Given the description of an element on the screen output the (x, y) to click on. 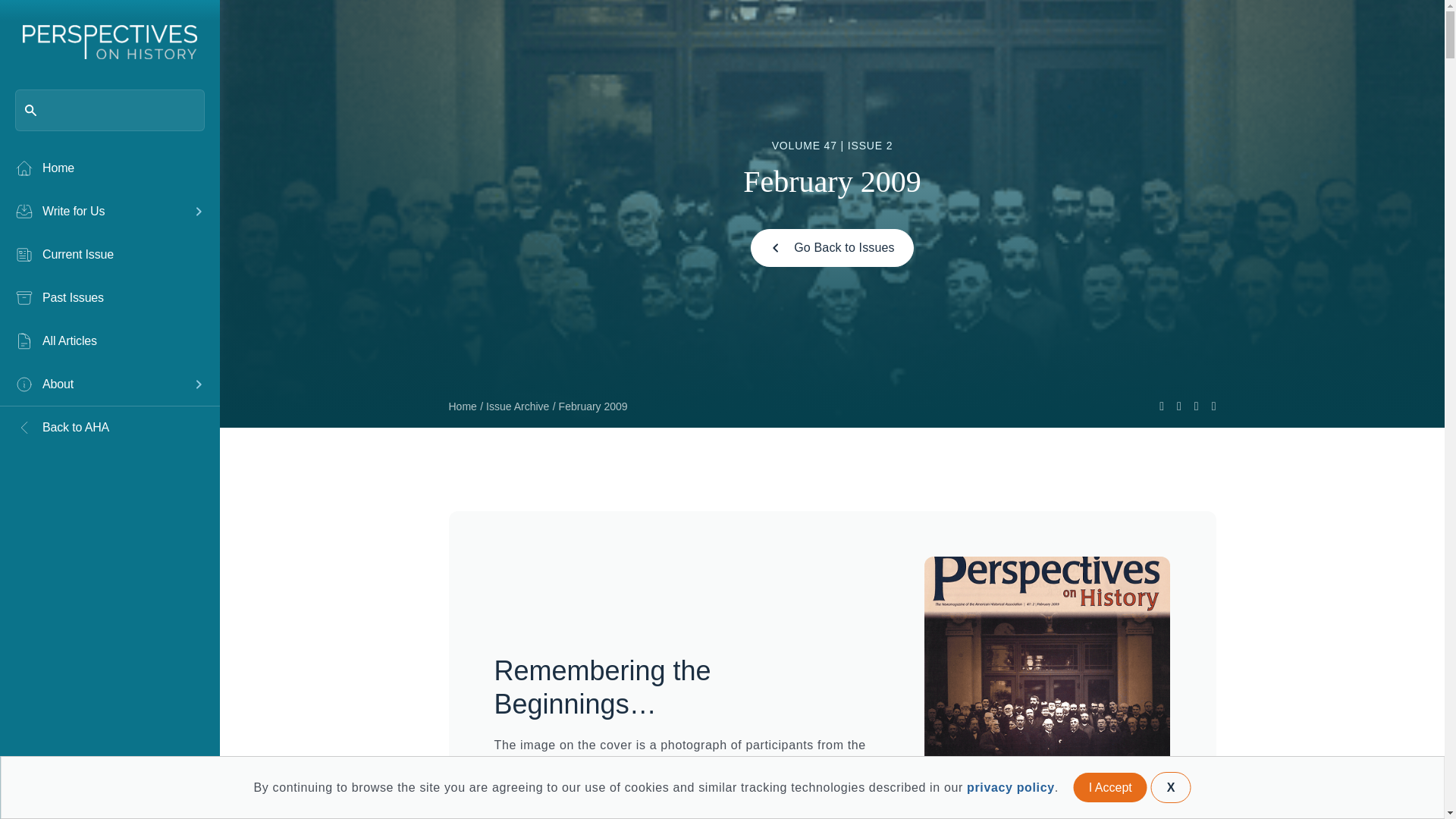
Donate (160, 784)
I Accept (1110, 787)
privacy policy (1010, 787)
All Articles (109, 341)
Current Issue (109, 254)
Search (38, 18)
X (1171, 787)
About (98, 384)
Write for Us (98, 211)
Past Issues (109, 297)
